Given the description of an element on the screen output the (x, y) to click on. 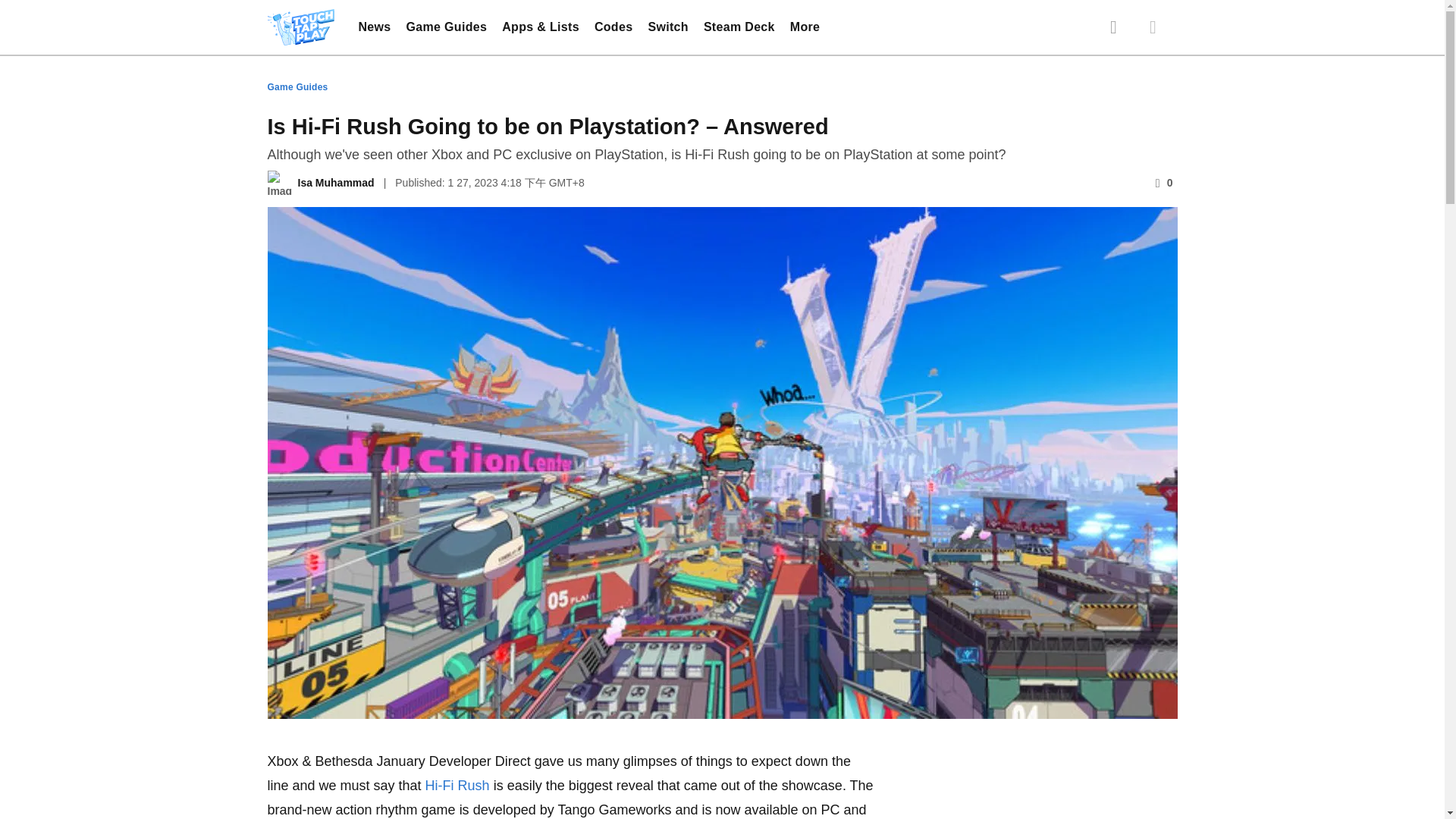
News (374, 26)
Search (1112, 27)
Steam Deck (738, 26)
Dark Mode (1152, 27)
Codes (613, 26)
Switch (667, 26)
Game Guides (446, 26)
